Given the description of an element on the screen output the (x, y) to click on. 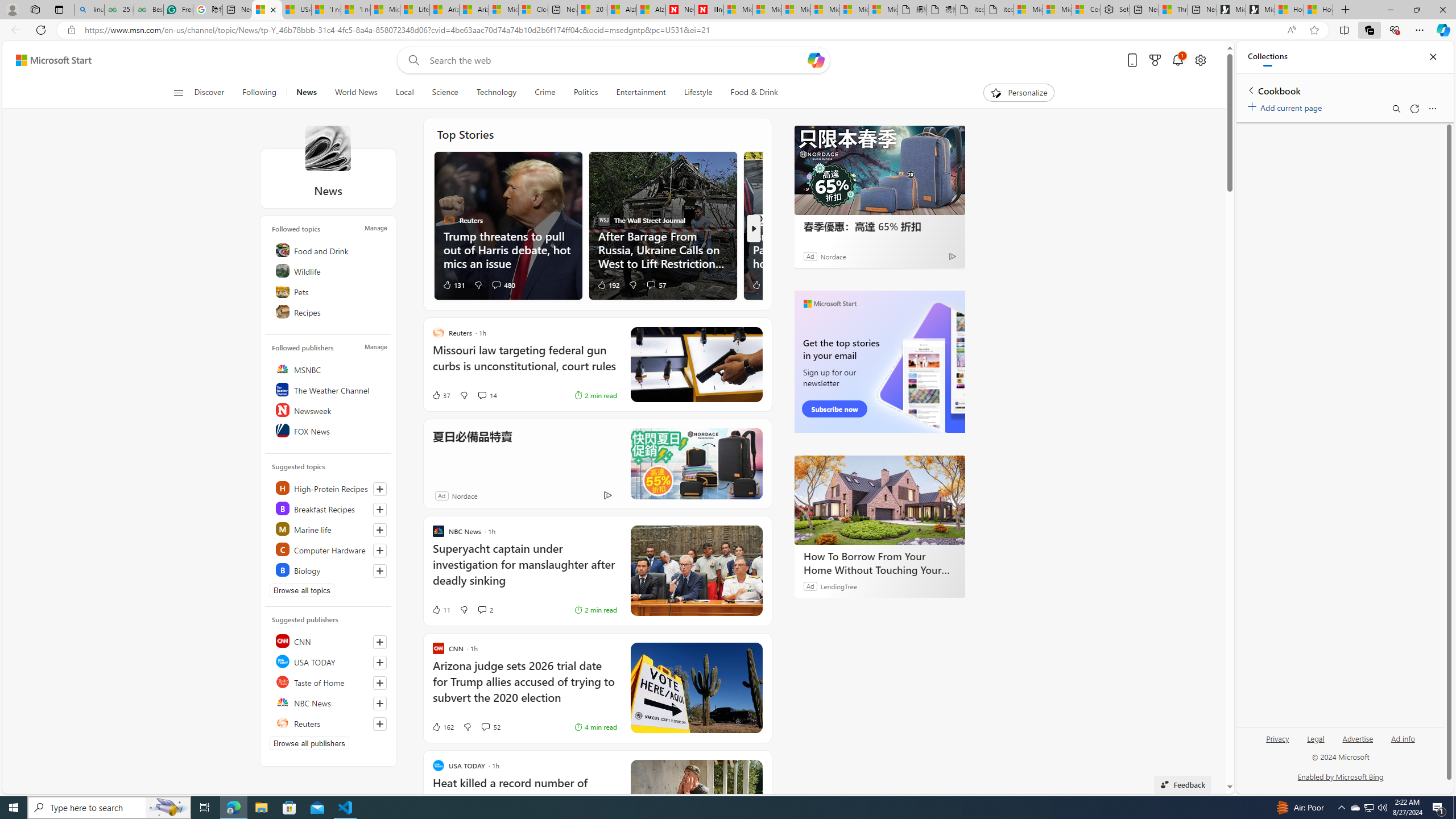
25 Basic Linux Commands For Beginners - GeeksforGeeks (118, 9)
MSNBC (328, 369)
Wildlife (328, 270)
Class: highlight (328, 570)
View comments 57 Comment (656, 284)
